Given the description of an element on the screen output the (x, y) to click on. 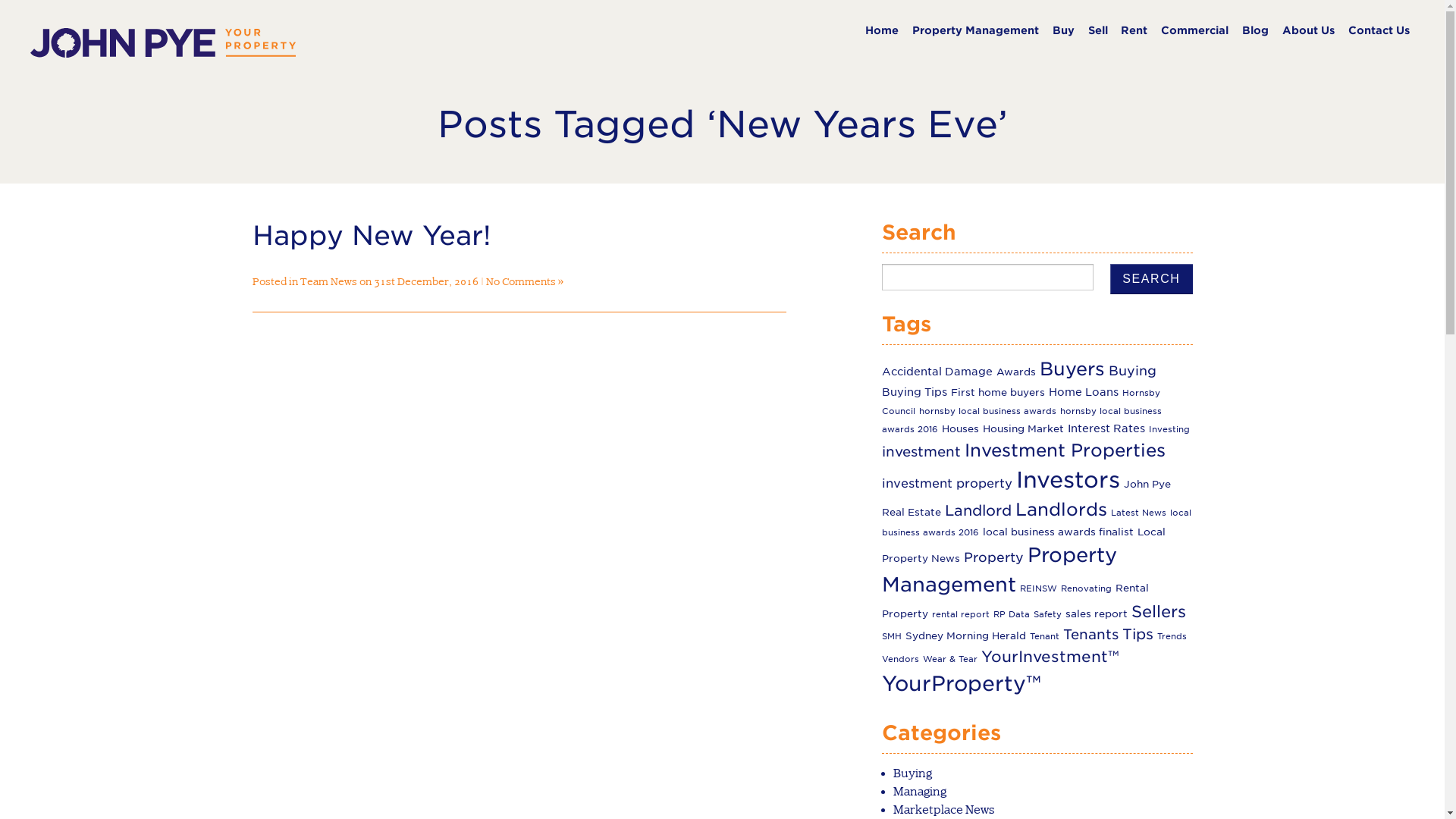
Contact Us Element type: text (1378, 29)
local business awards 2016 Element type: text (1036, 522)
rental report Element type: text (960, 614)
Tips Element type: text (1137, 633)
sales report Element type: text (1096, 613)
Property Element type: text (993, 556)
Investment Properties Element type: text (1064, 449)
Tenants Element type: text (1090, 634)
Team News Element type: text (328, 281)
Buyers Element type: text (1071, 368)
Commercial Element type: text (1194, 29)
Sell Element type: text (1097, 29)
Sydney Morning Herald Element type: text (965, 635)
Wear & Tear Element type: text (949, 659)
investment Element type: text (920, 451)
Managing Element type: text (919, 790)
Investing Element type: text (1168, 429)
REINSW Element type: text (1038, 588)
First home buyers Element type: text (997, 392)
Tenant Element type: text (1044, 636)
Vendors Element type: text (900, 659)
Buying Element type: text (1132, 370)
hornsby local business awards 2016 Element type: text (1021, 420)
Houses Element type: text (960, 428)
SMH Element type: text (891, 636)
Search Element type: text (1151, 278)
Landlord Element type: text (977, 510)
Marketplace News Element type: text (943, 809)
Awards Element type: text (1015, 371)
Home Loans Element type: text (1083, 391)
Hornsby Council Element type: text (1020, 402)
Housing Market Element type: text (1022, 428)
Landlords Element type: text (1061, 508)
hornsby local business awards Element type: text (987, 411)
John Pye Real Estate Element type: text (1025, 497)
Trends Element type: text (1171, 636)
local business awards finalist Element type: text (1057, 531)
Investors Element type: text (1068, 479)
Renovating Element type: text (1085, 588)
Interest Rates Element type: text (1106, 427)
About Us Element type: text (1308, 29)
investment property Element type: text (946, 483)
Buying Element type: text (912, 772)
Rent Element type: text (1133, 29)
RP Data Element type: text (1011, 614)
Local Property News Element type: text (1023, 545)
Safety Element type: text (1047, 614)
Happy New Year! Element type: text (370, 235)
Home Element type: text (881, 29)
Property Management Element type: text (999, 569)
Blog Element type: text (1255, 29)
Sellers Element type: text (1158, 611)
Latest News Element type: text (1138, 512)
Property Management Element type: text (975, 29)
Buy Element type: text (1063, 29)
Accidental Damage Element type: text (936, 370)
Buying Tips Element type: text (914, 391)
Rental Property Element type: text (1014, 600)
